Given the description of an element on the screen output the (x, y) to click on. 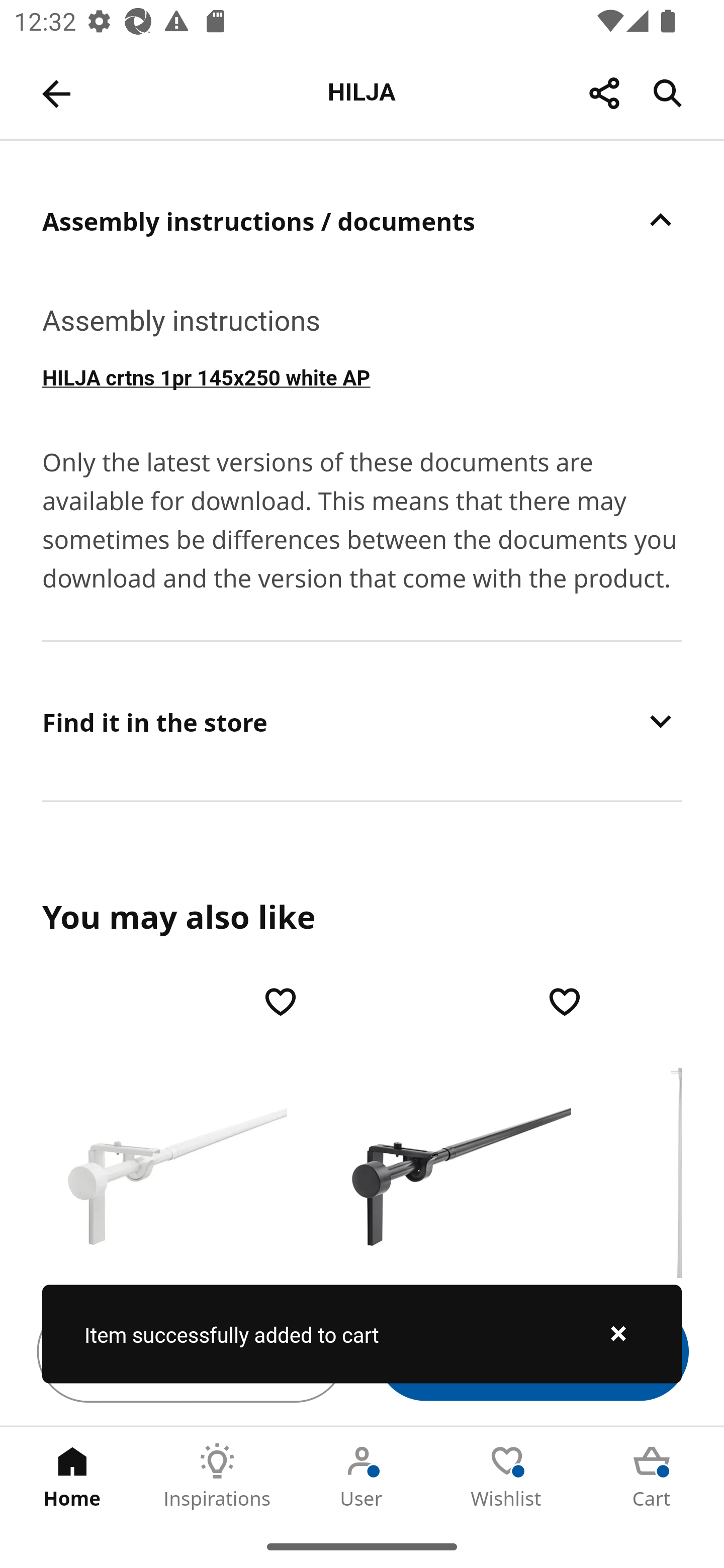
Assembly instructions / documents (361, 219)
HILJA crtns 1pr 145x250 white AP (361, 376)
Find it in the store (361, 721)
Item successfully added to cart (361, 1333)
Home
Tab 1 of 5 (72, 1476)
Inspirations
Tab 2 of 5 (216, 1476)
User
Tab 3 of 5 (361, 1476)
Wishlist
Tab 4 of 5 (506, 1476)
Cart
Tab 5 of 5 (651, 1476)
